Given the description of an element on the screen output the (x, y) to click on. 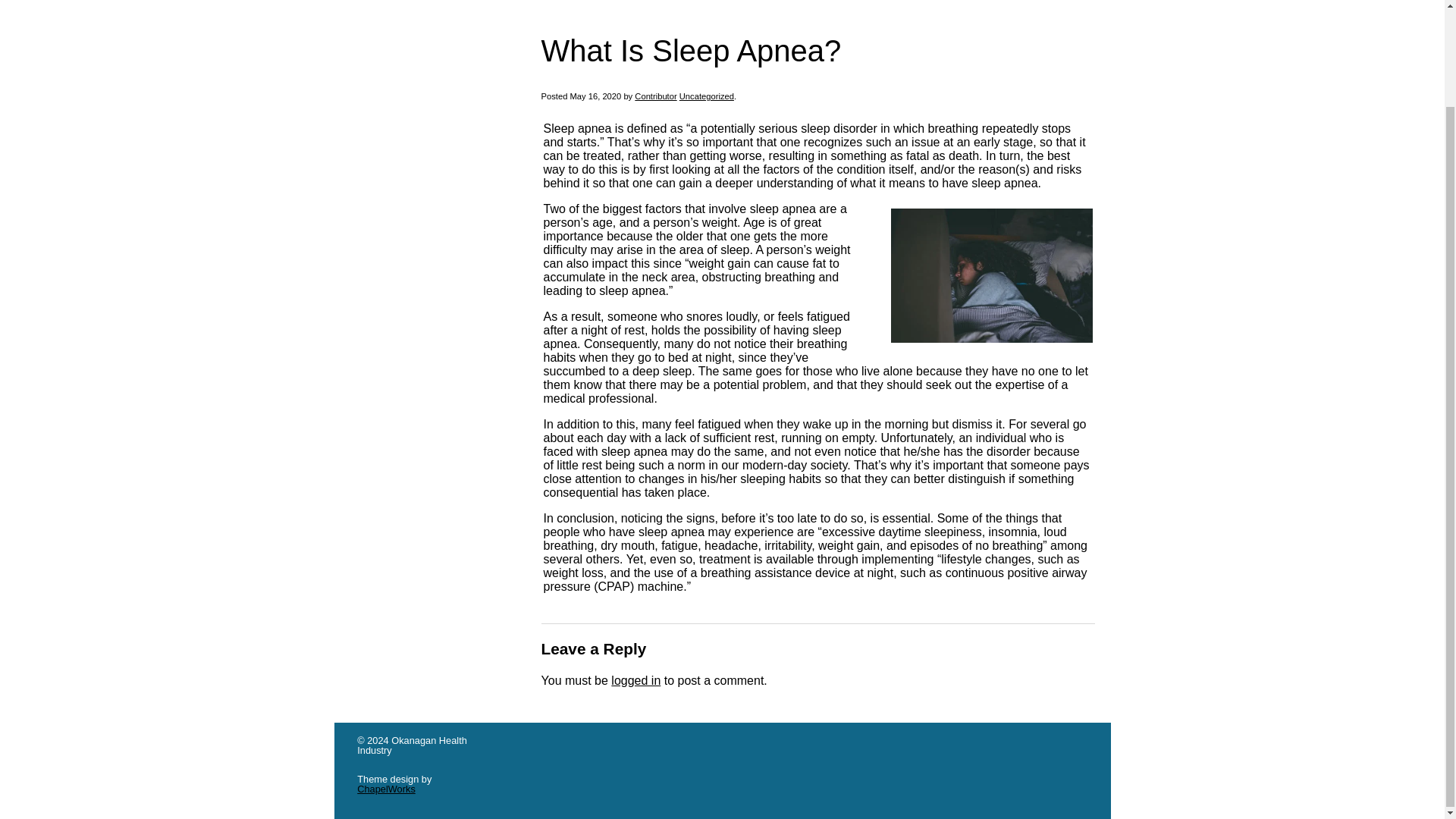
logged in (636, 680)
Posts by Contributor (655, 95)
Uncategorized (706, 95)
Contributor (655, 95)
ChapelWorks (385, 788)
